Given the description of an element on the screen output the (x, y) to click on. 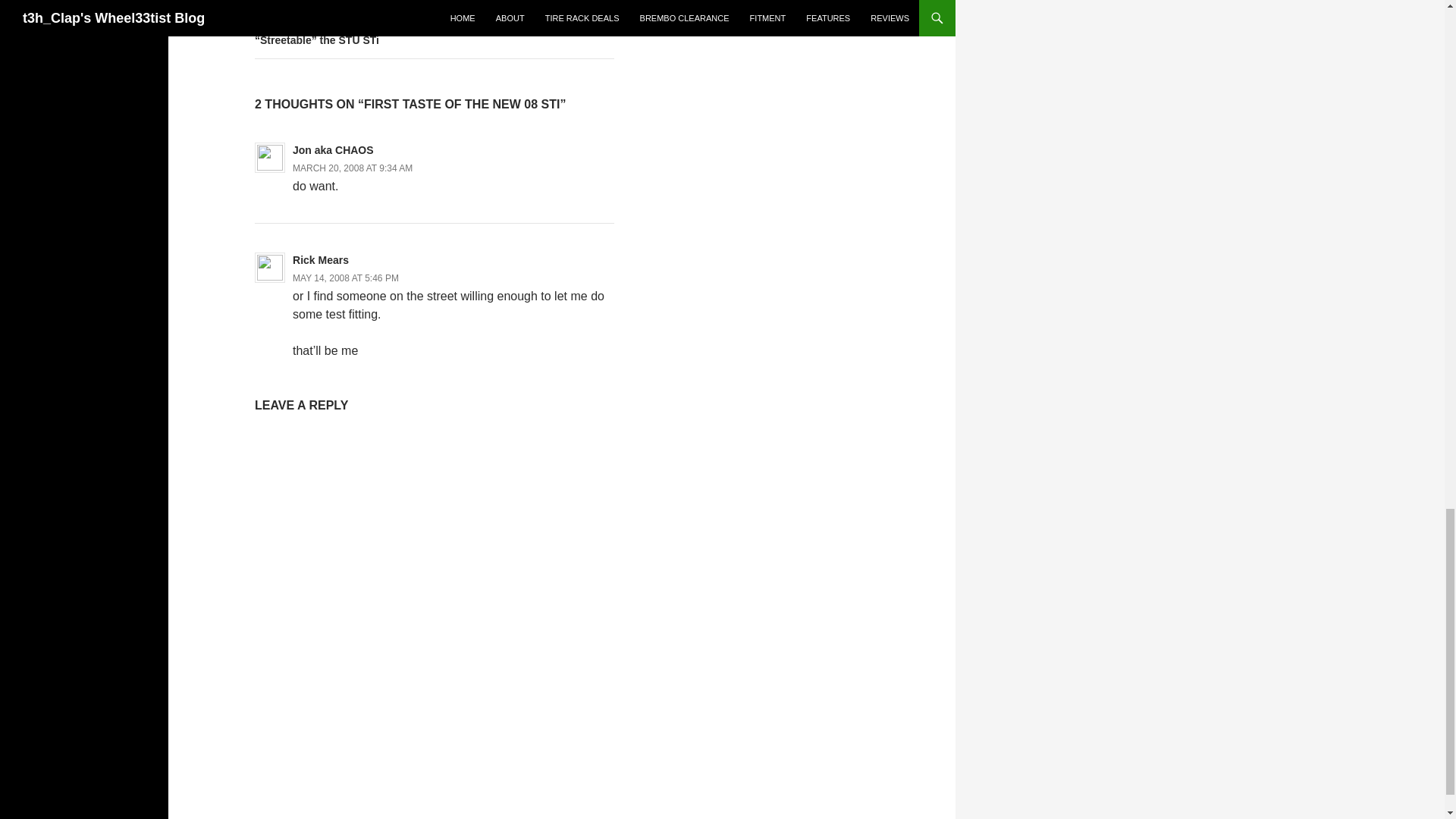
MAY 14, 2008 AT 5:46 PM (345, 277)
MARCH 20, 2008 AT 9:34 AM (352, 167)
Comment Form (434, 596)
